Given the description of an element on the screen output the (x, y) to click on. 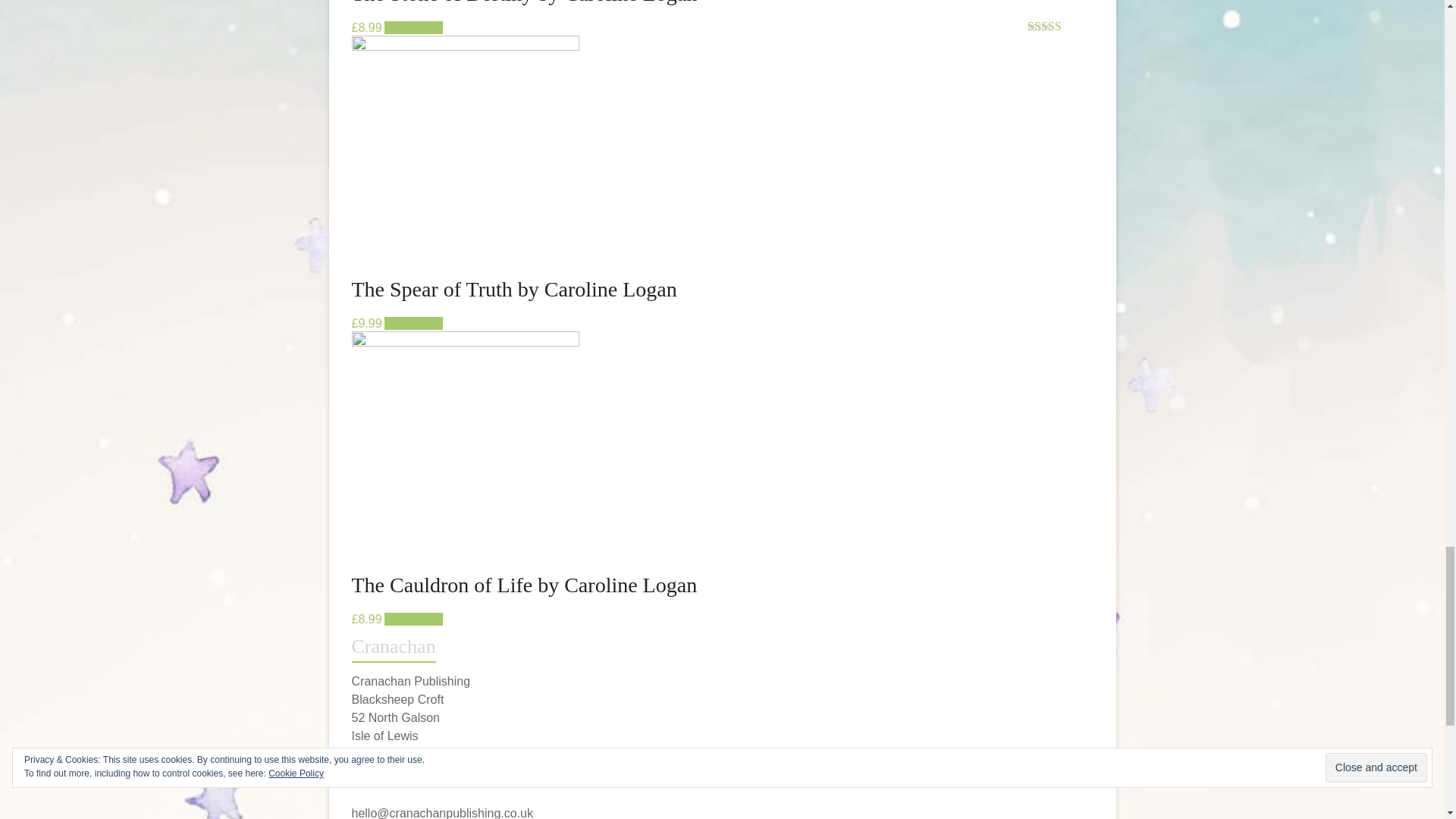
Add to cart (413, 323)
Add to cart (413, 27)
Add to cart (413, 618)
The Stone of Destiny (722, 17)
